Given the description of an element on the screen output the (x, y) to click on. 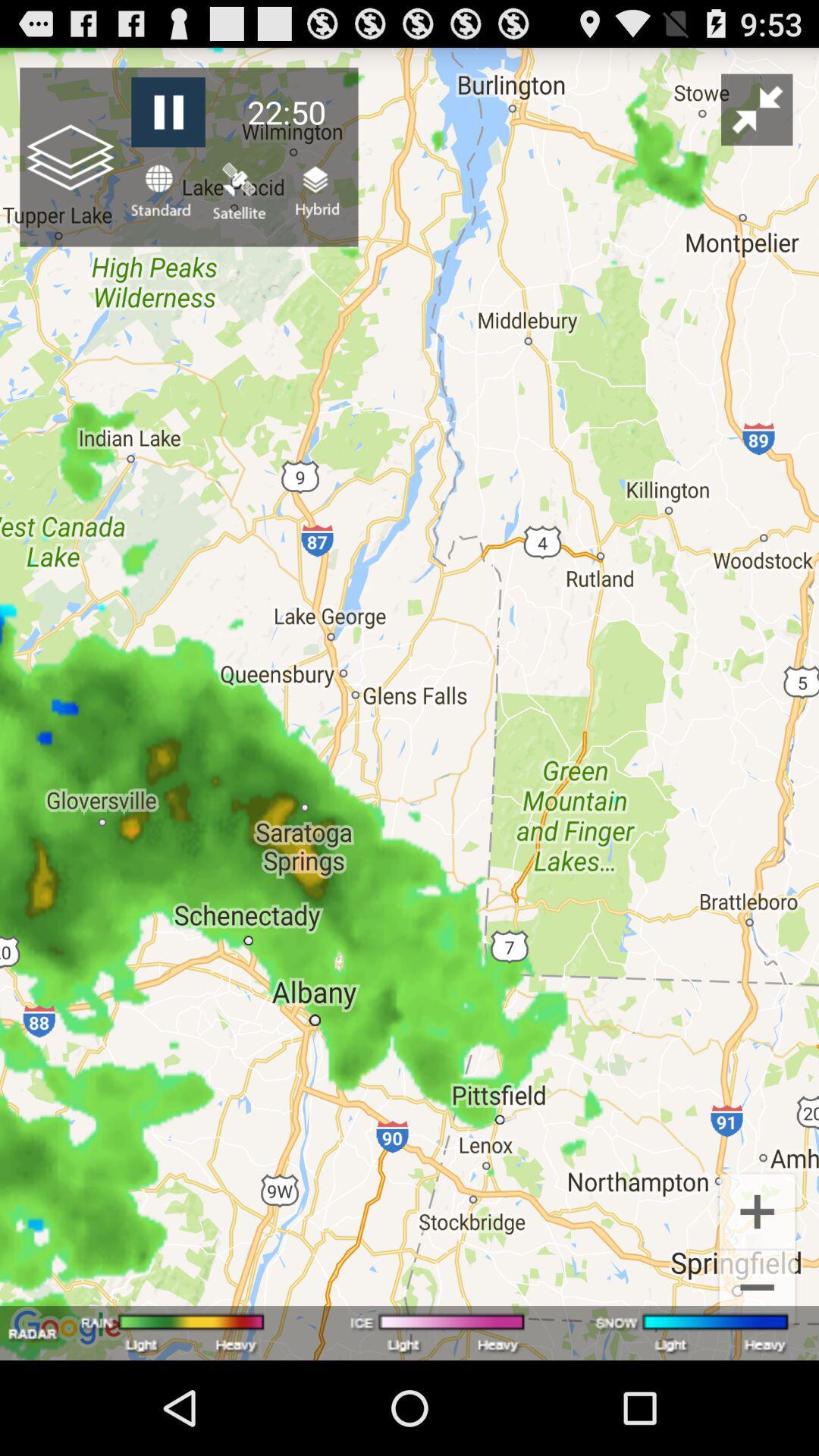
turn off icon at the top right corner (756, 109)
